Given the description of an element on the screen output the (x, y) to click on. 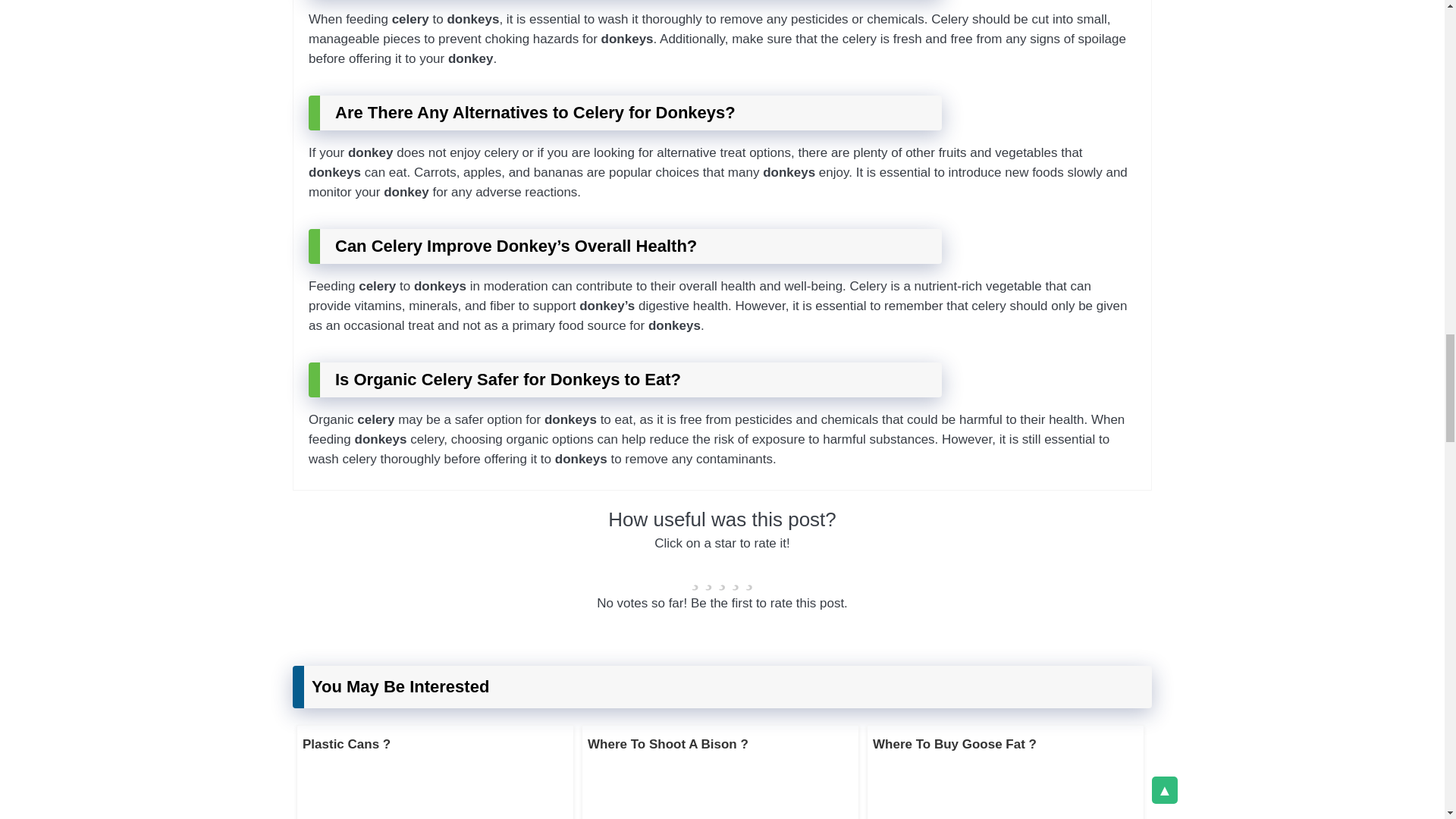
Where To Shoot A Bison ? (668, 744)
Where To Shoot A Bison ? (668, 744)
Plastic Cans ? (346, 744)
Plastic Cans ? (346, 744)
